Given the description of an element on the screen output the (x, y) to click on. 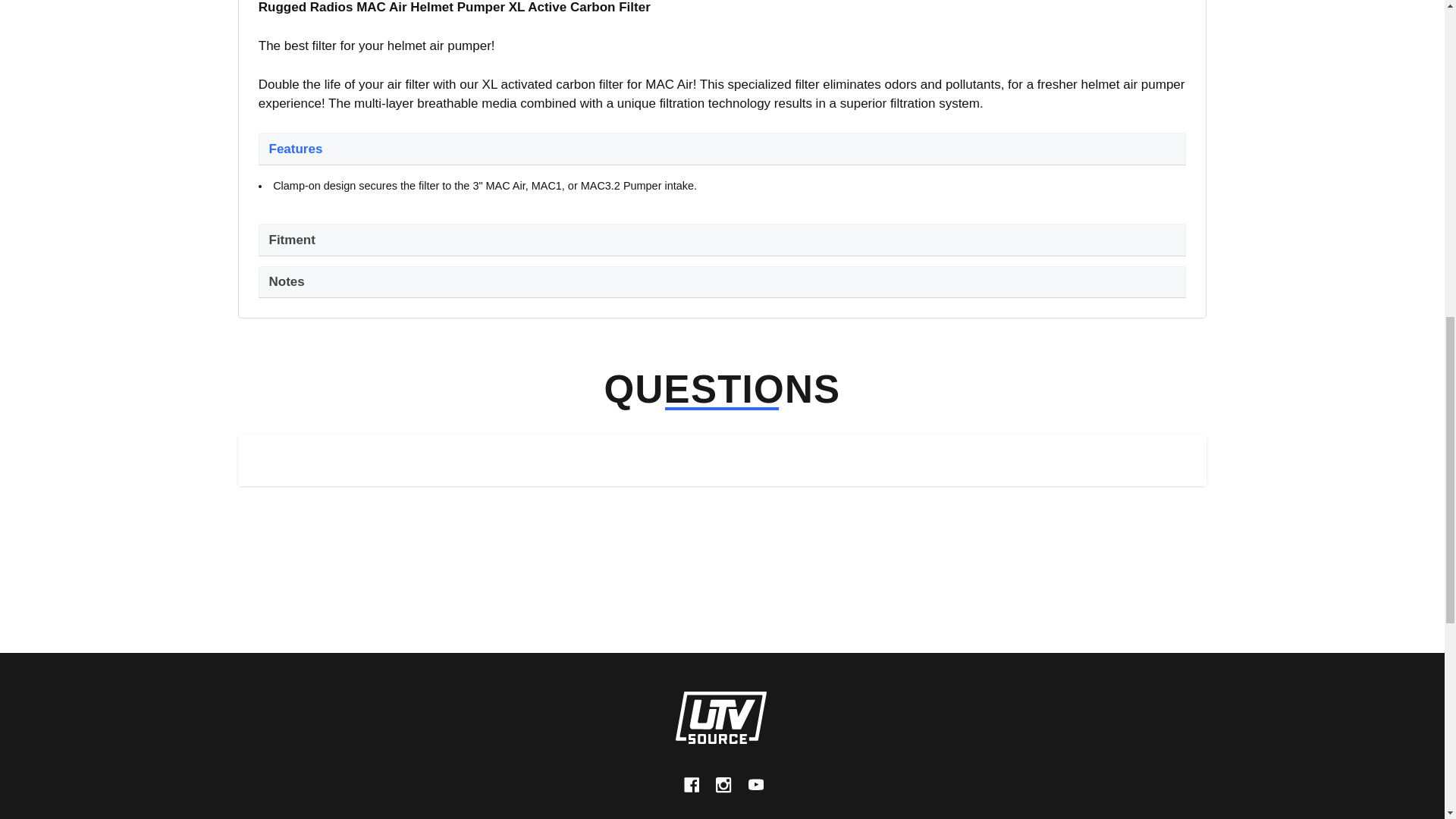
Instagram (723, 785)
UTV Source (721, 717)
Facebook (691, 785)
Youtube (755, 785)
